Given the description of an element on the screen output the (x, y) to click on. 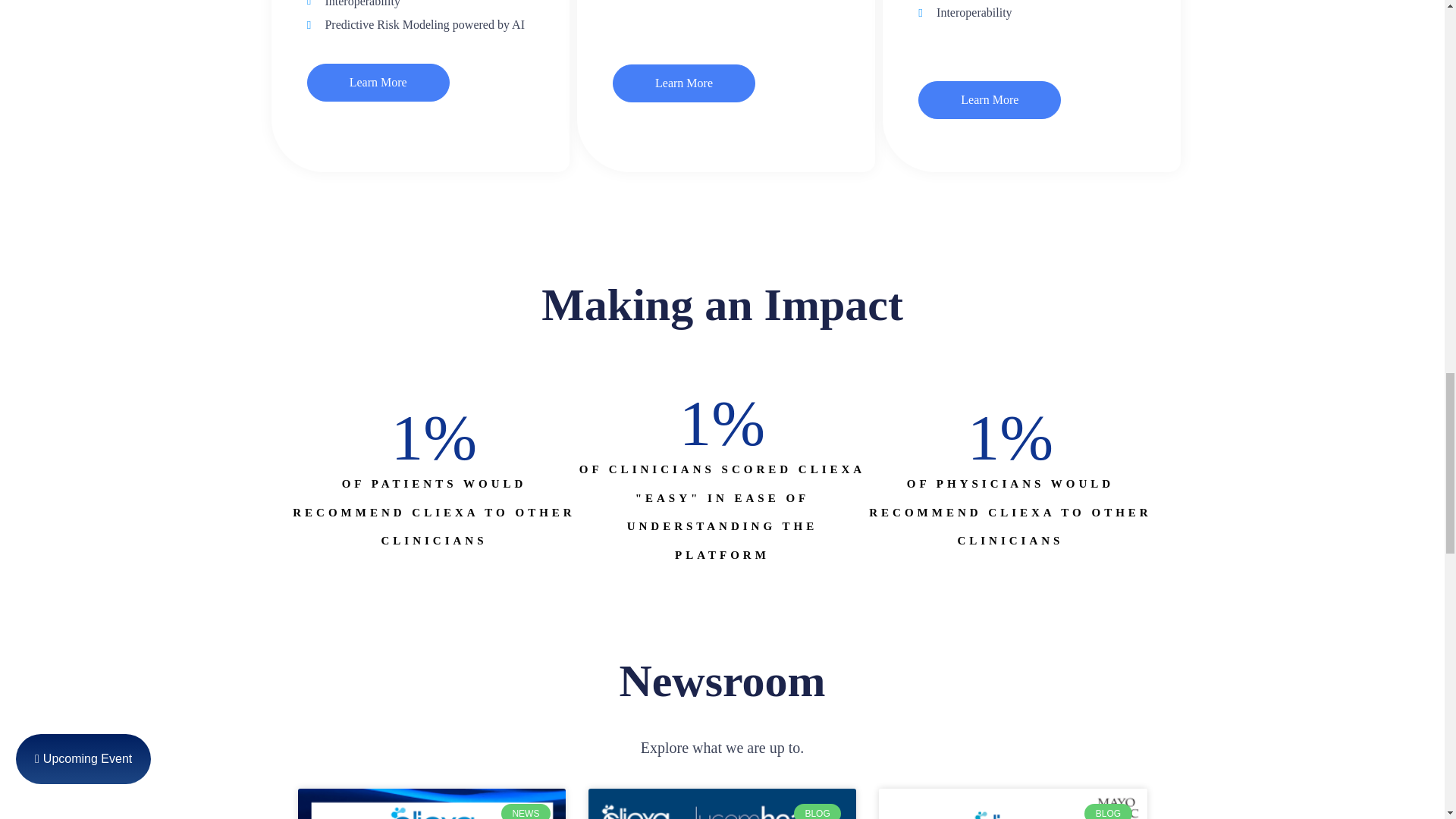
Learn More (989, 99)
Learn More (683, 83)
Learn More (378, 82)
